Given the description of an element on the screen output the (x, y) to click on. 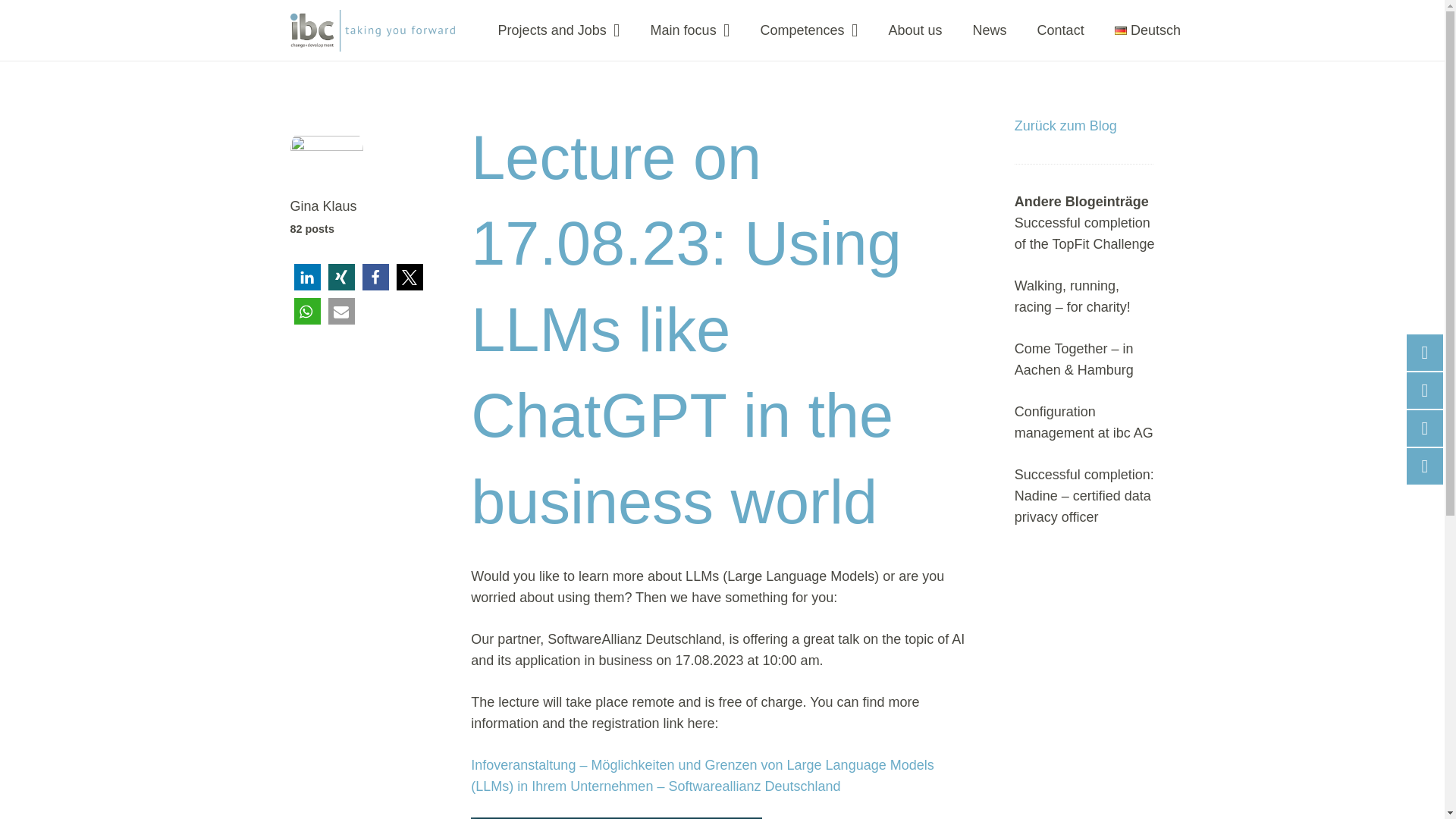
News (990, 30)
Bei LinkedIn teilen (307, 276)
Per E-Mail versenden (340, 311)
Deutsch (1147, 30)
Gina Klaus (359, 206)
Successful completion of the TopFit Challenge (1084, 233)
Bei XING teilen (340, 276)
Main focus (689, 30)
Projects and Jobs (558, 30)
Bei Whatsapp teilen (307, 311)
